Given the description of an element on the screen output the (x, y) to click on. 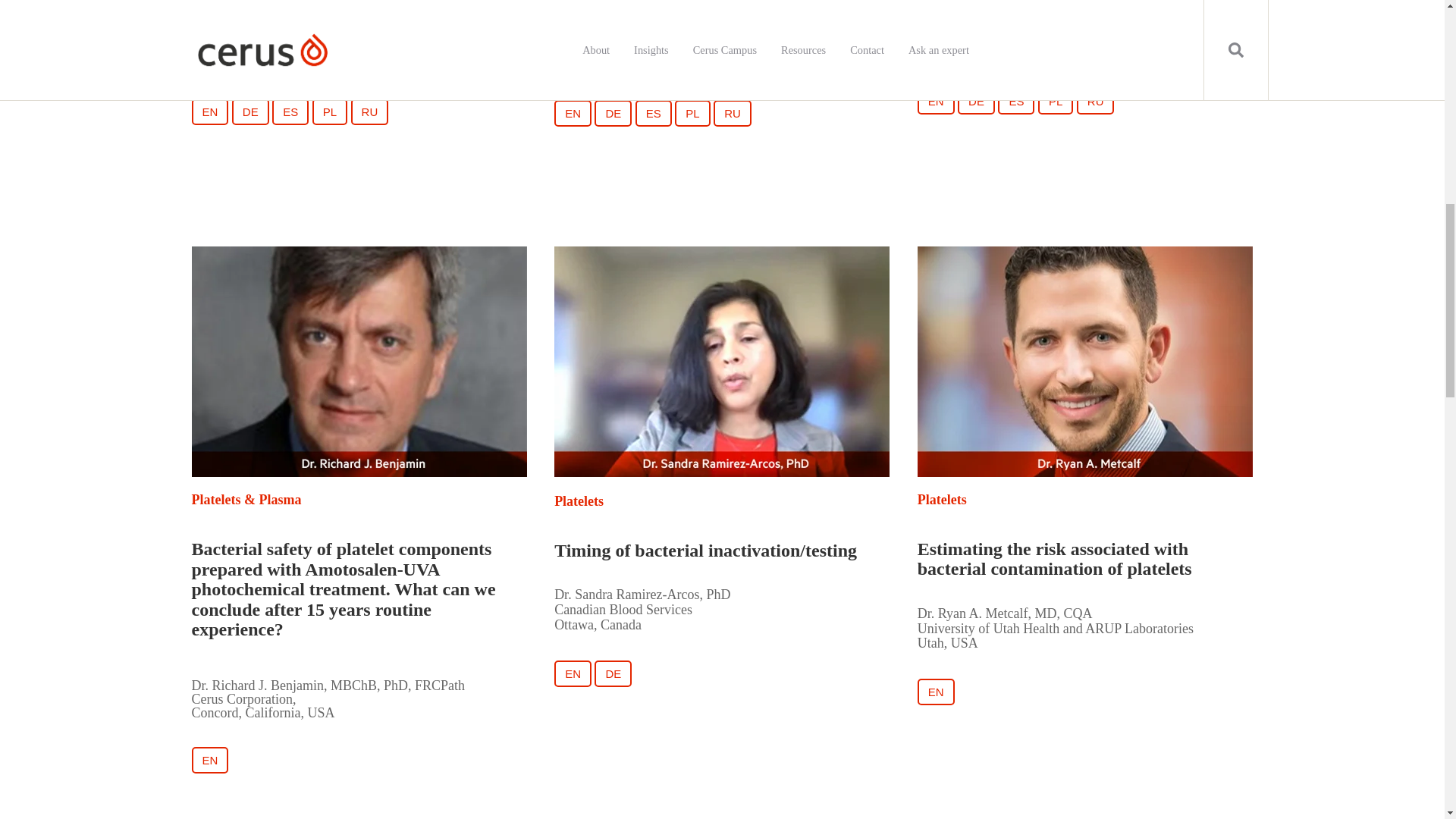
DE (250, 111)
PL (1055, 100)
RU (732, 112)
RU (1096, 100)
EN (572, 112)
EN (209, 111)
ES (652, 112)
PL (692, 112)
RU (369, 111)
DE (250, 111)
EN (209, 759)
ES (290, 111)
ES (1015, 100)
EN (572, 673)
PL (692, 112)
